Given the description of an element on the screen output the (x, y) to click on. 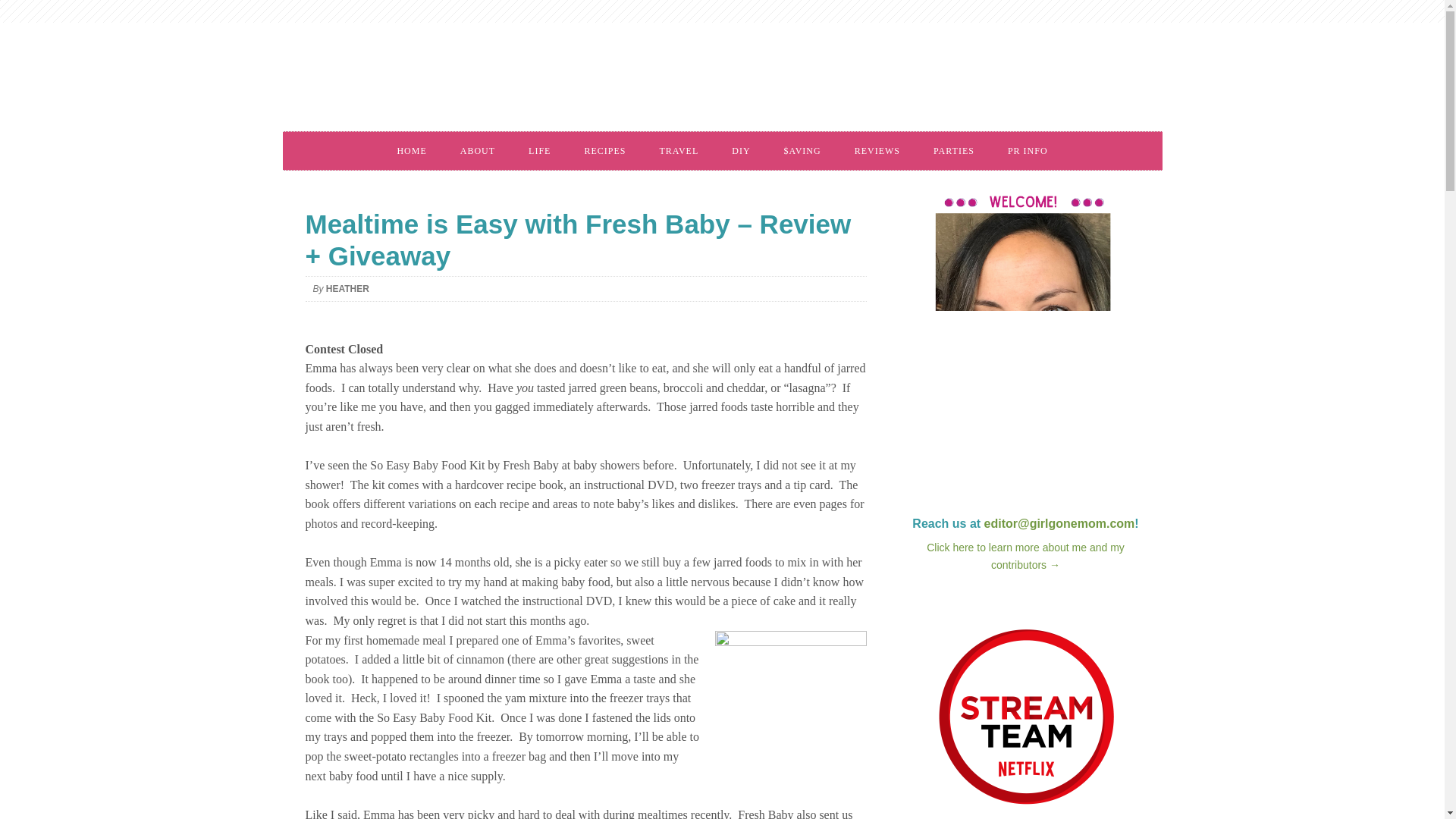
ABOUT (478, 150)
DIY (740, 150)
HOME (411, 150)
RECIPES (604, 150)
Girl Gone Mom (509, 82)
TRAVEL (678, 150)
LIFE (539, 150)
